Given the description of an element on the screen output the (x, y) to click on. 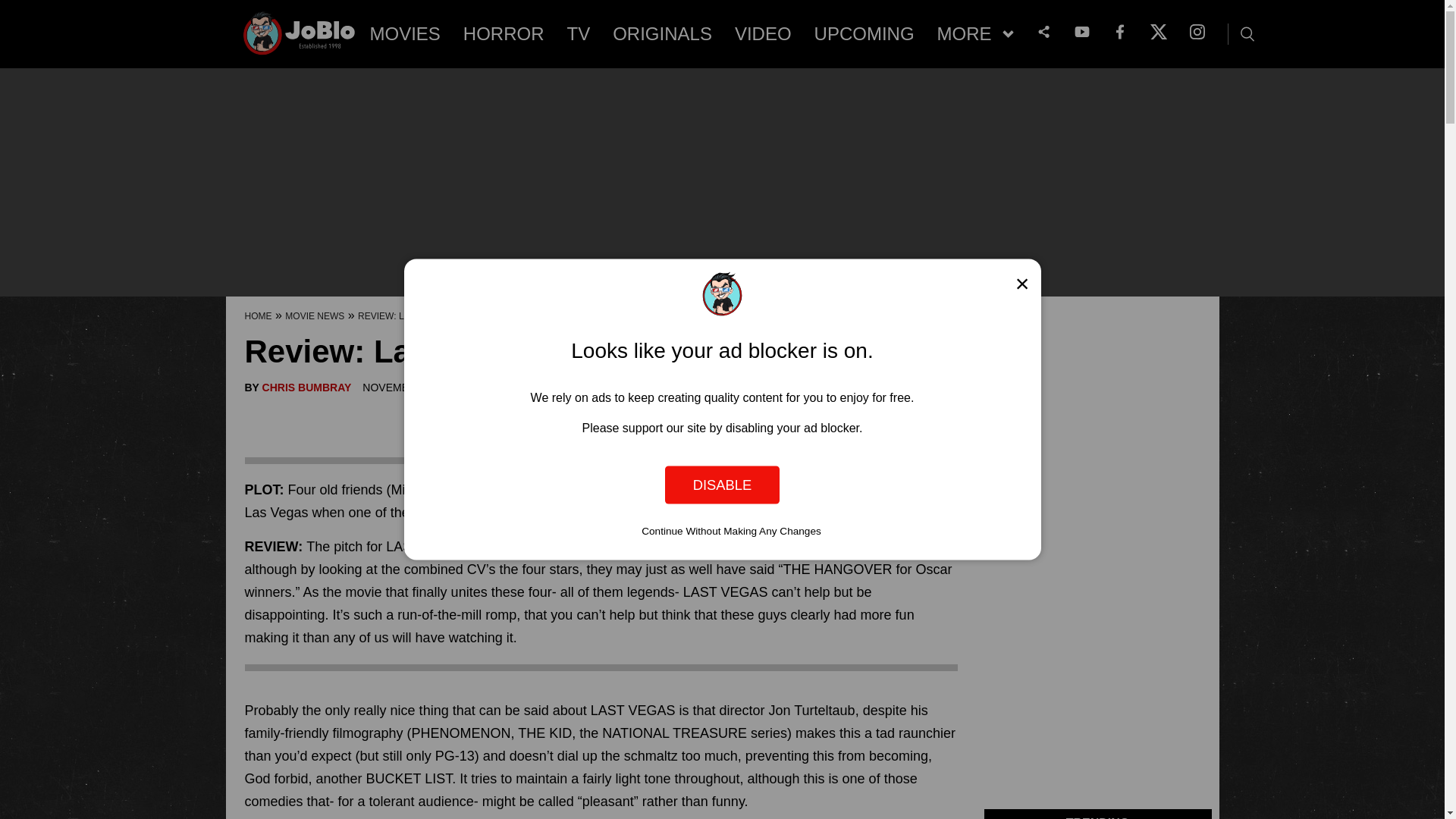
VIDEO (762, 34)
JoBlo Logo (299, 38)
Go (13, 7)
MOVIES (405, 34)
TV (578, 34)
HORROR (503, 34)
ORIGINALS (662, 34)
MORE (976, 34)
UPCOMING (863, 34)
